Given the description of an element on the screen output the (x, y) to click on. 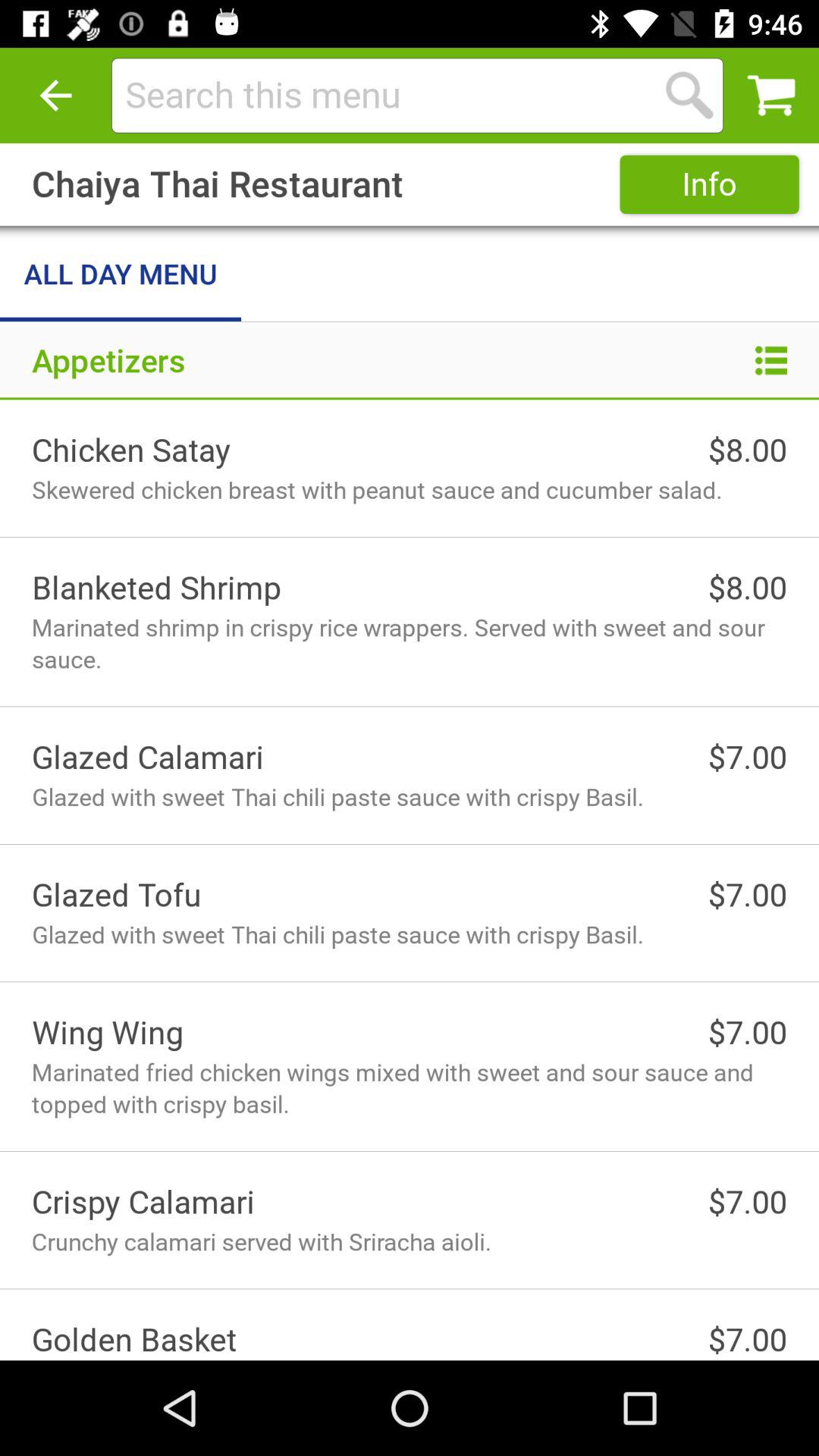
launch item above the info (689, 95)
